Given the description of an element on the screen output the (x, y) to click on. 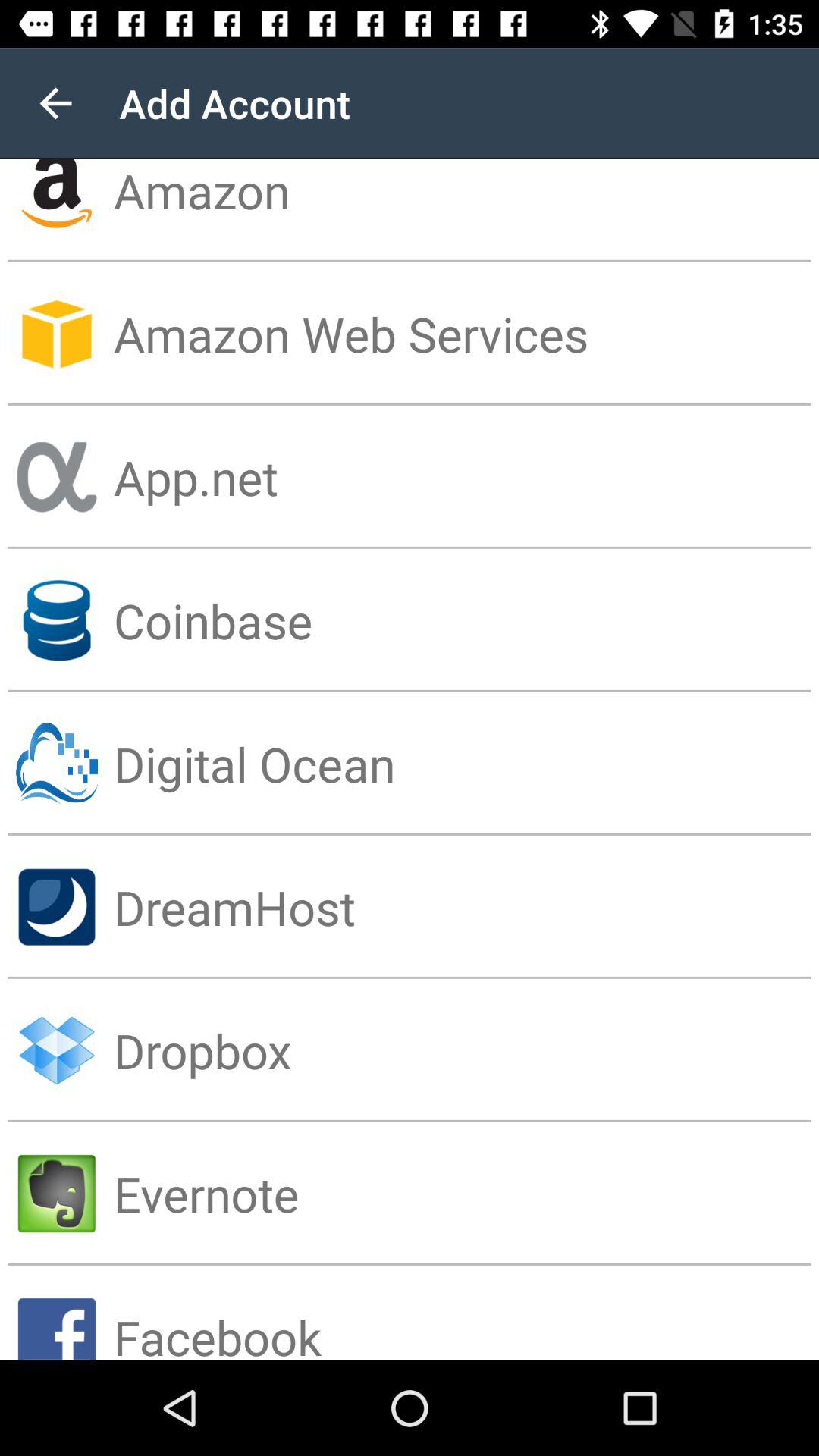
turn on the app to the left of the amazon (55, 103)
